Given the description of an element on the screen output the (x, y) to click on. 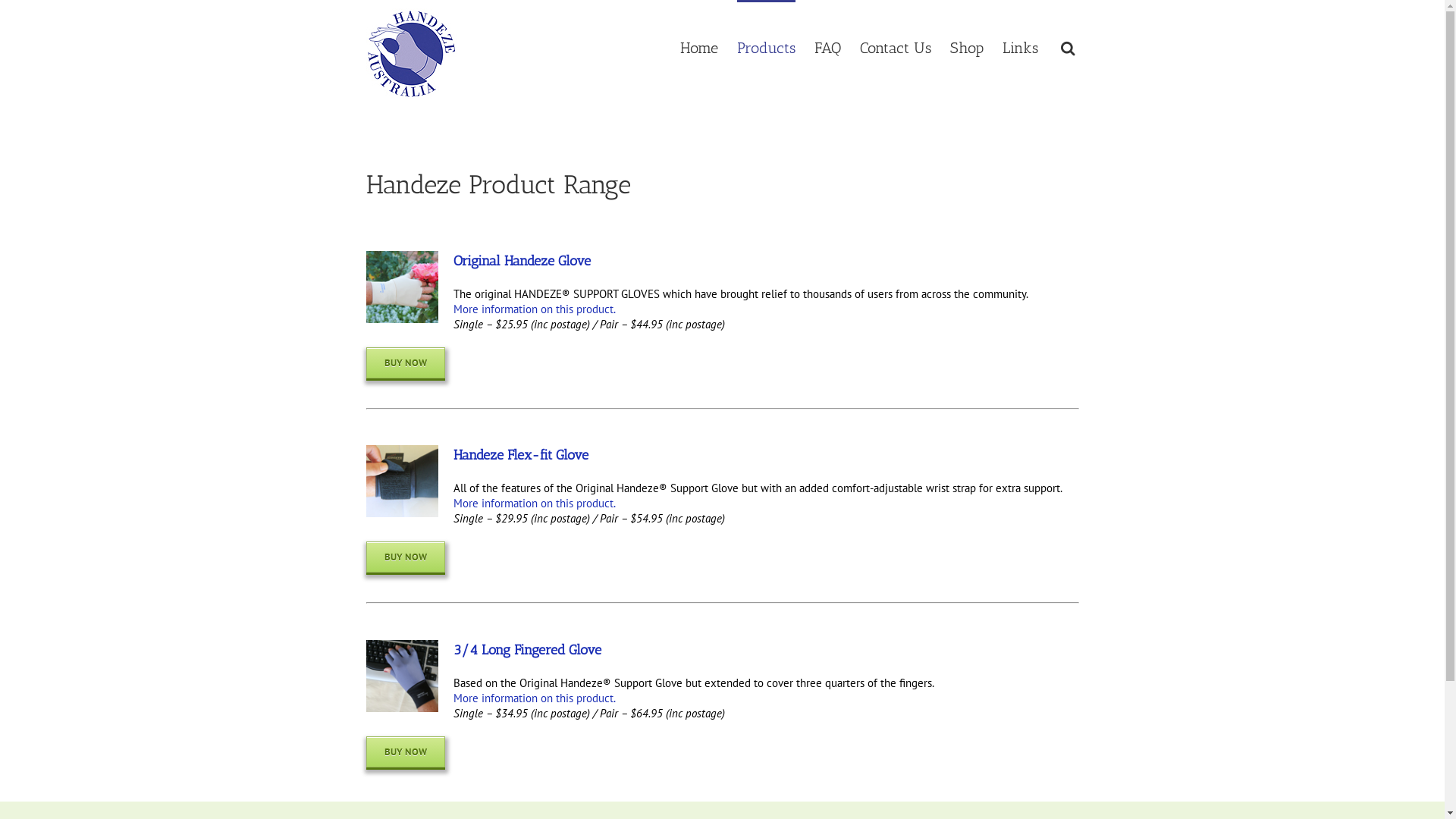
BUY NOW Element type: text (404, 362)
Handeze Flex-fit Glove Element type: text (520, 454)
FAQ Element type: text (827, 46)
More information on this product. Element type: text (534, 697)
Original Handeze Glove Element type: text (521, 260)
Home Element type: text (698, 46)
Links Element type: text (1020, 46)
Shop Element type: text (965, 46)
3/4 Long Fingered Glove Element type: text (527, 649)
BUY NOW Element type: text (404, 556)
BUY NOW Element type: text (404, 751)
More information on this product. Element type: text (534, 308)
Products Element type: text (766, 46)
Contact Us Element type: text (895, 46)
More information on this product. Element type: text (534, 502)
